Given the description of an element on the screen output the (x, y) to click on. 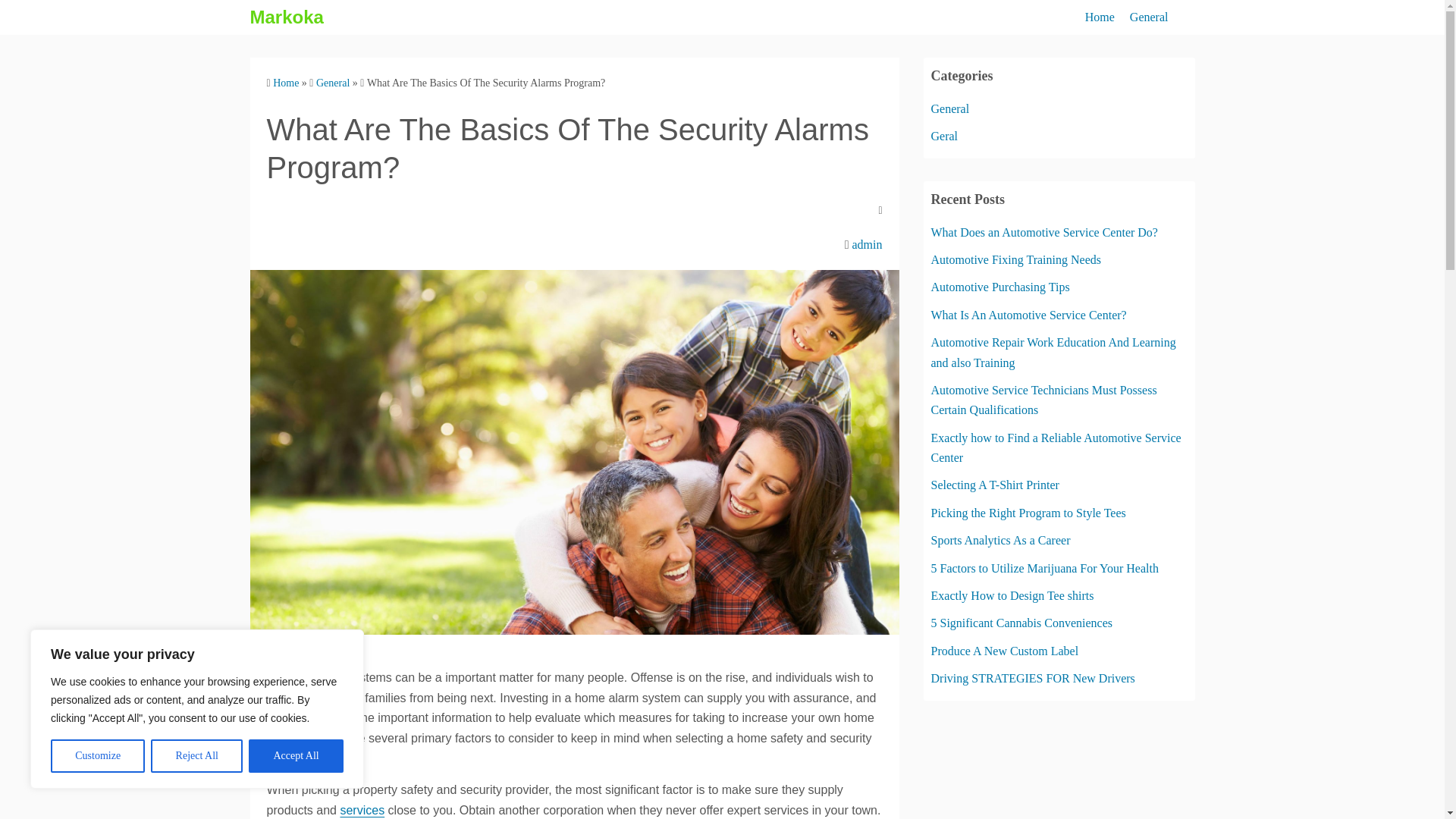
Geral (944, 135)
Accept All (295, 756)
admin (866, 244)
Home (285, 82)
Home (1099, 17)
Reject All (197, 756)
General (332, 82)
Markoka (286, 16)
services (361, 809)
General (950, 108)
Customize (97, 756)
General (1149, 17)
